Given the description of an element on the screen output the (x, y) to click on. 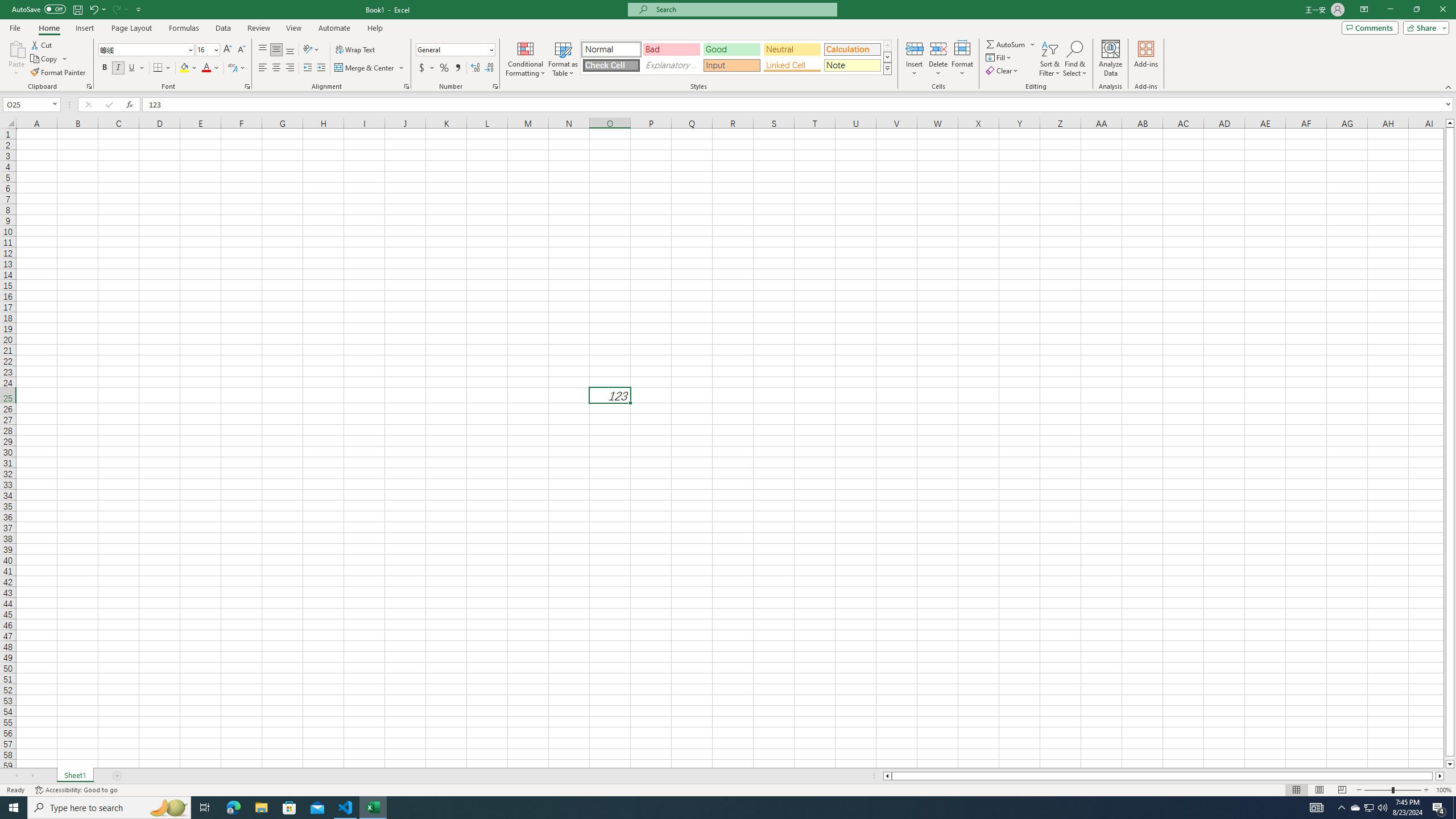
File Tab (15, 27)
Page right (1433, 775)
Accounting Number Format (426, 67)
Formula Bar (799, 104)
Font Size (207, 49)
Cut (42, 44)
Class: NetUIImage (887, 68)
Number Format (451, 49)
Underline (136, 67)
Scroll Left (16, 775)
Data (223, 28)
Ribbon Display Options (1364, 9)
Name Box (27, 104)
Font (147, 49)
AutomationID: CellStylesGallery (736, 57)
